Given the description of an element on the screen output the (x, y) to click on. 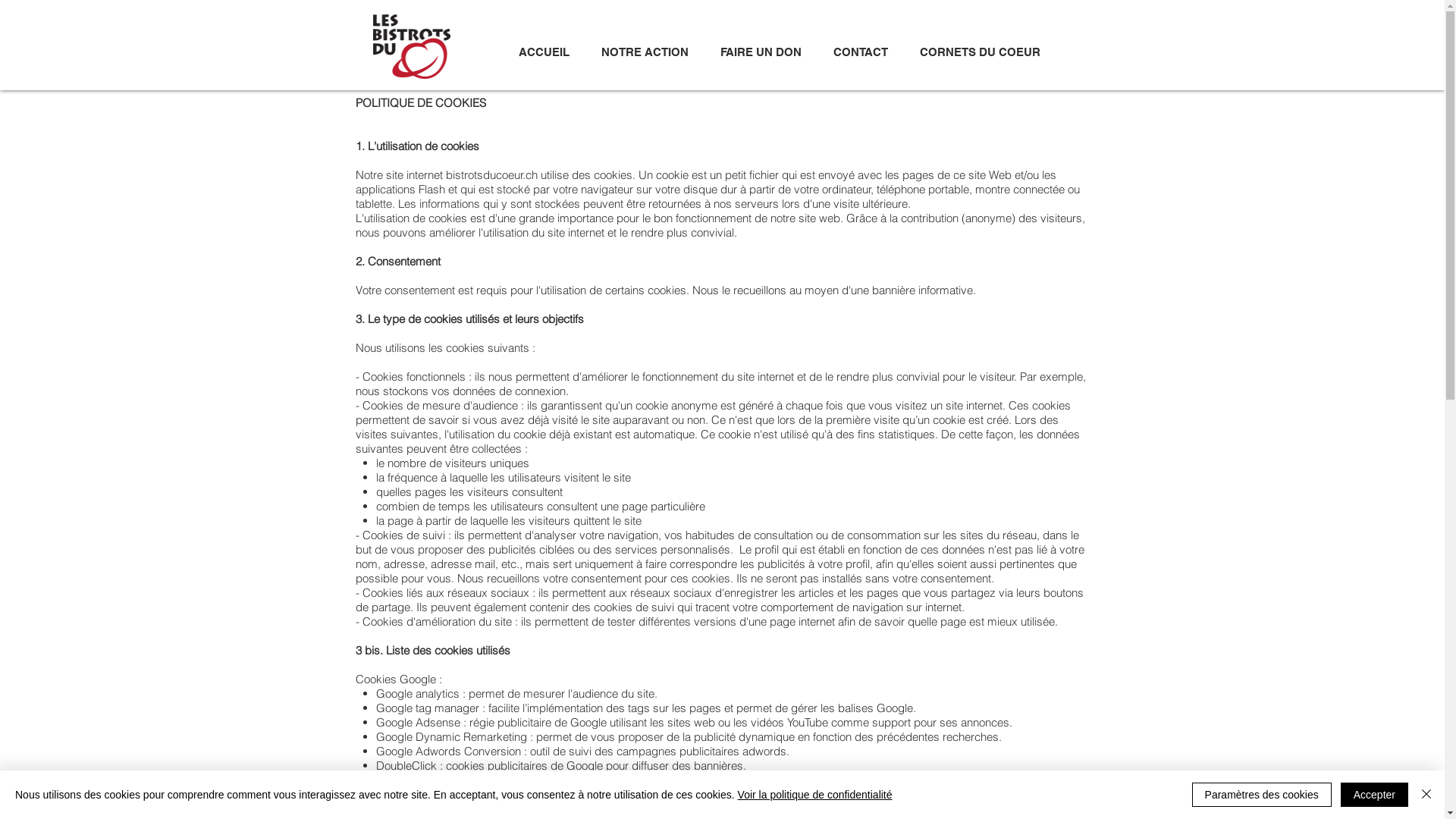
Accepter Element type: text (1374, 794)
CORNETS DU COEUR Element type: text (979, 51)
NOTRE ACTION Element type: text (644, 51)
ACCUEIL Element type: text (543, 51)
CONTACT Element type: text (860, 51)
FAIRE UN DON Element type: text (759, 51)
